Given the description of an element on the screen output the (x, y) to click on. 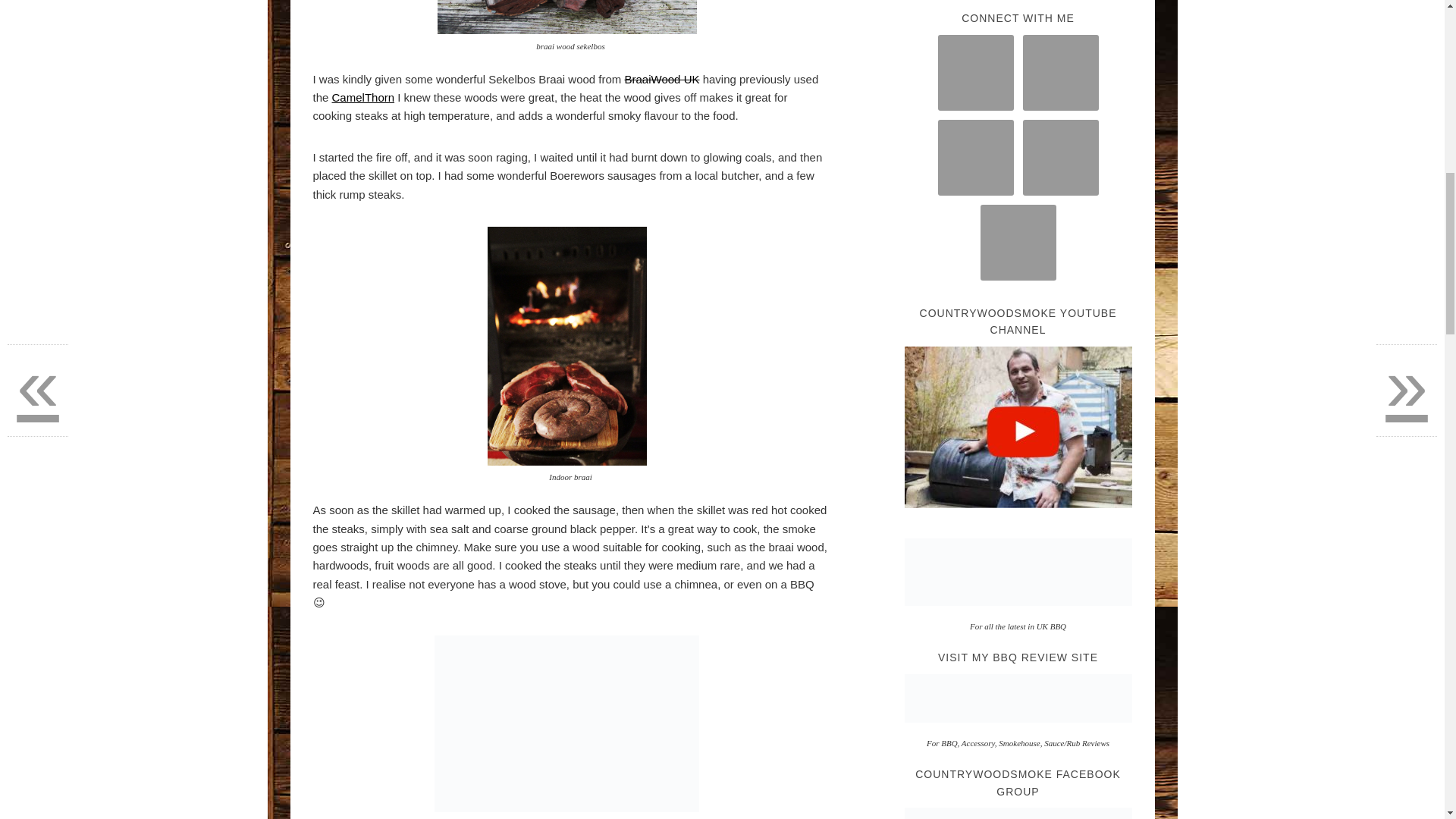
CamelThorn (362, 97)
camelthorn (362, 97)
BraaiWood UK (662, 78)
BraaiWood UK (662, 78)
